Given the description of an element on the screen output the (x, y) to click on. 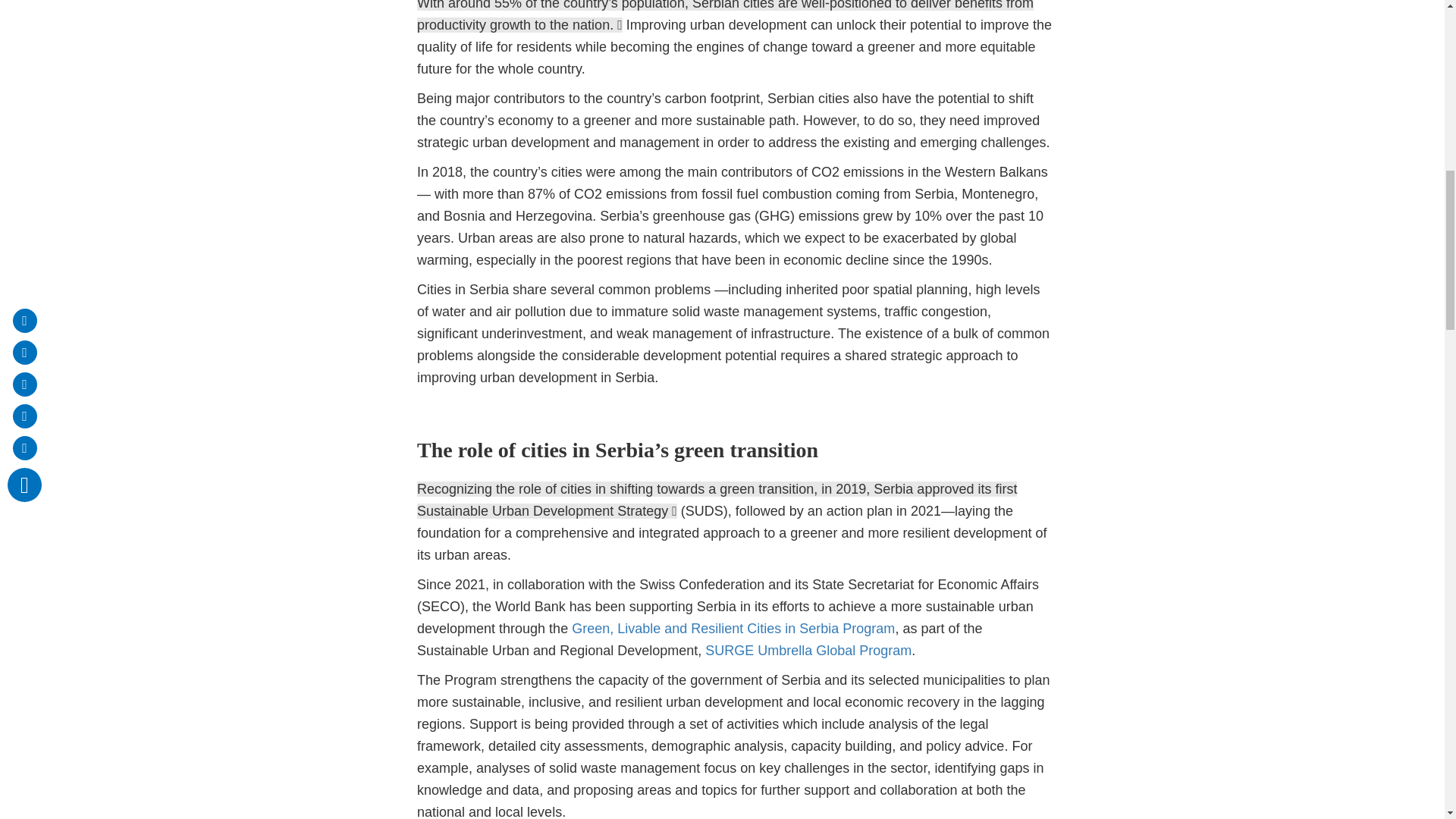
SURGE Umbrella Global Program (807, 650)
Green, Livable and Resilient Cities in Serbia Program (733, 628)
